Given the description of an element on the screen output the (x, y) to click on. 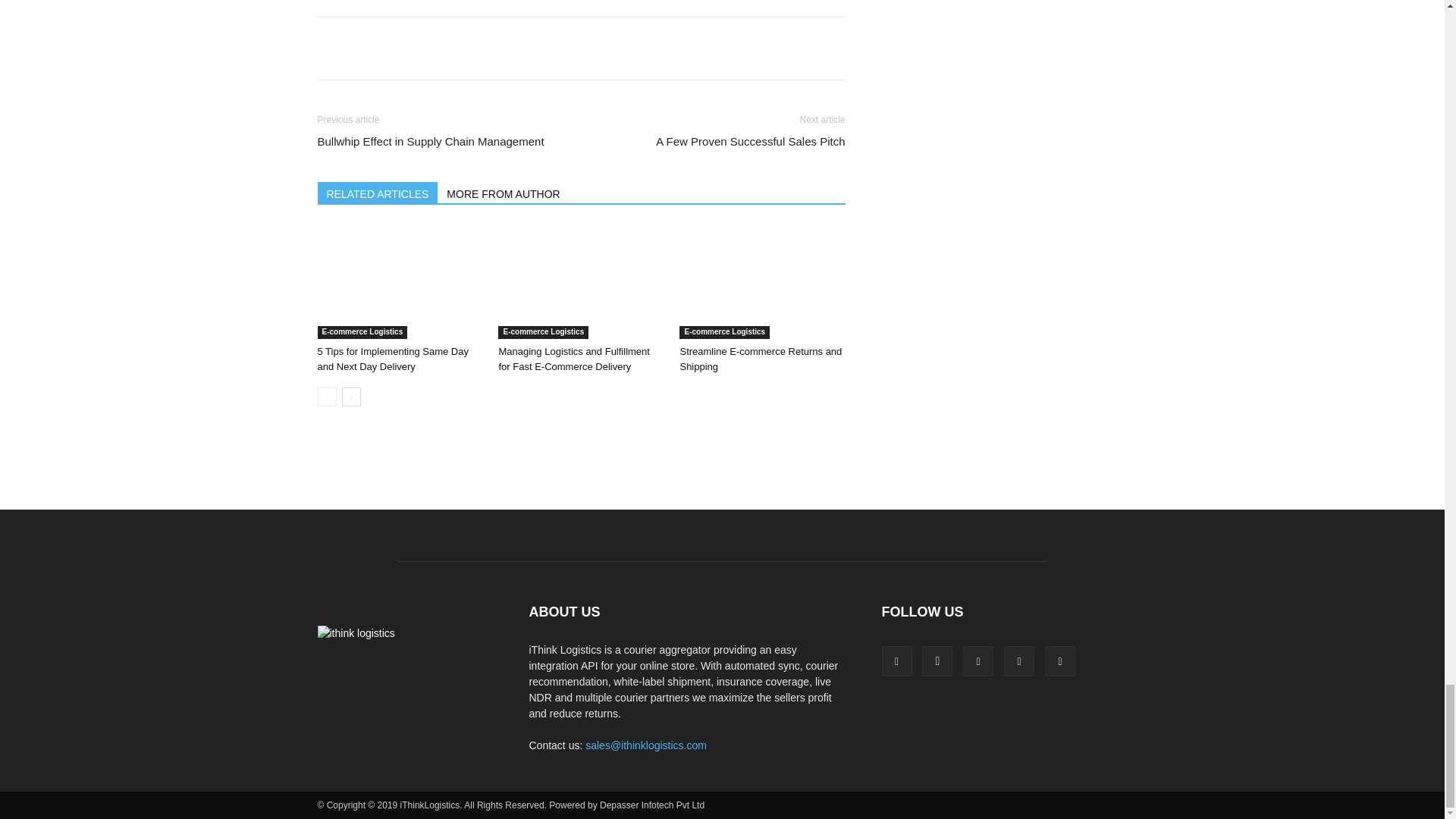
Streamline E-commerce Returns and Shipping (761, 282)
5 Tips for Implementing Same Day and Next Day Delivery (392, 358)
5 Tips for Implementing Same Day and Next Day Delivery (399, 282)
